Given the description of an element on the screen output the (x, y) to click on. 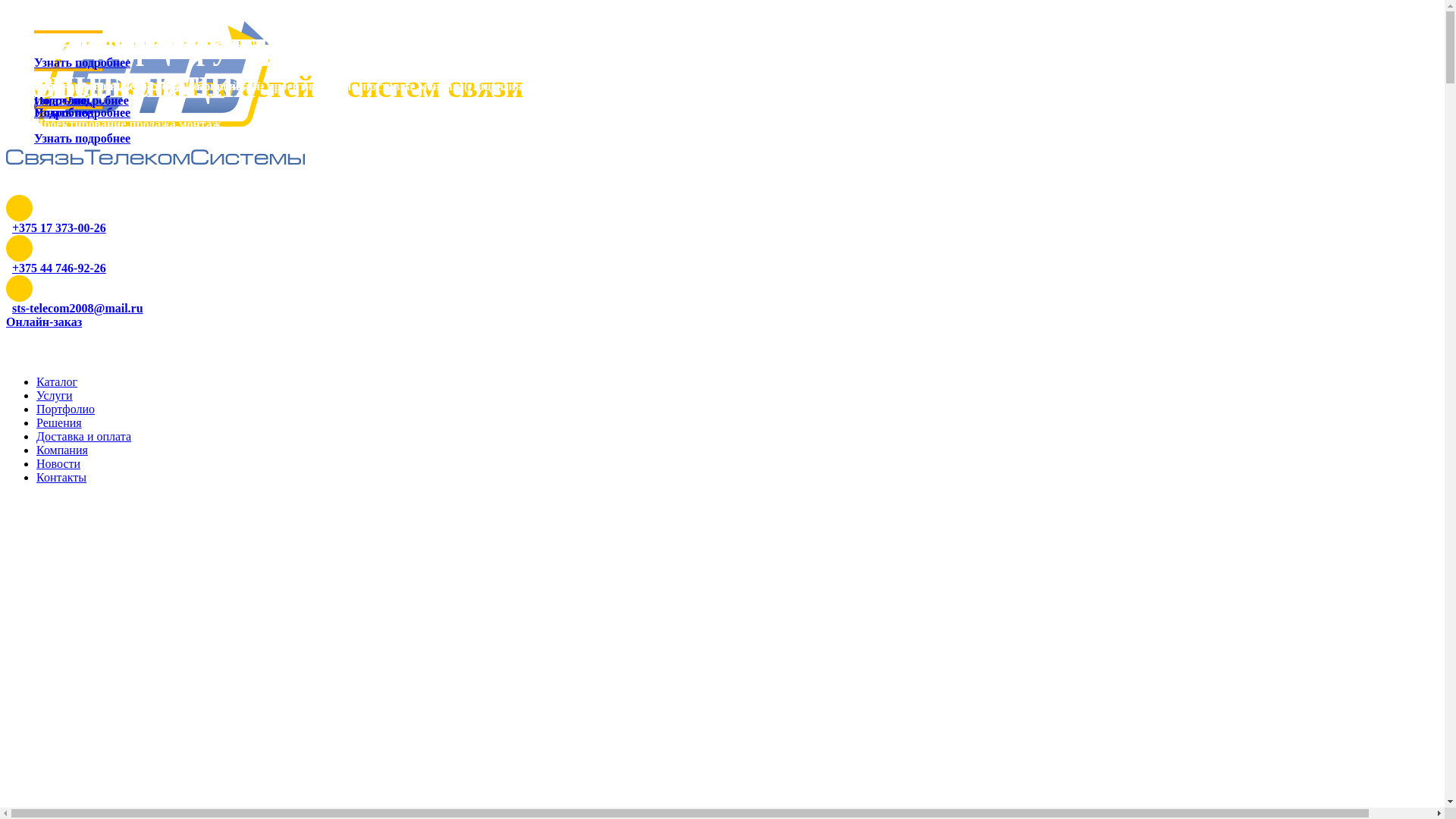
+375 44 746-92-26 Element type: text (59, 267)
sts-telecom2008@mail.ru Element type: text (77, 307)
+375 17 373-00-26 Element type: text (59, 227)
